Given the description of an element on the screen output the (x, y) to click on. 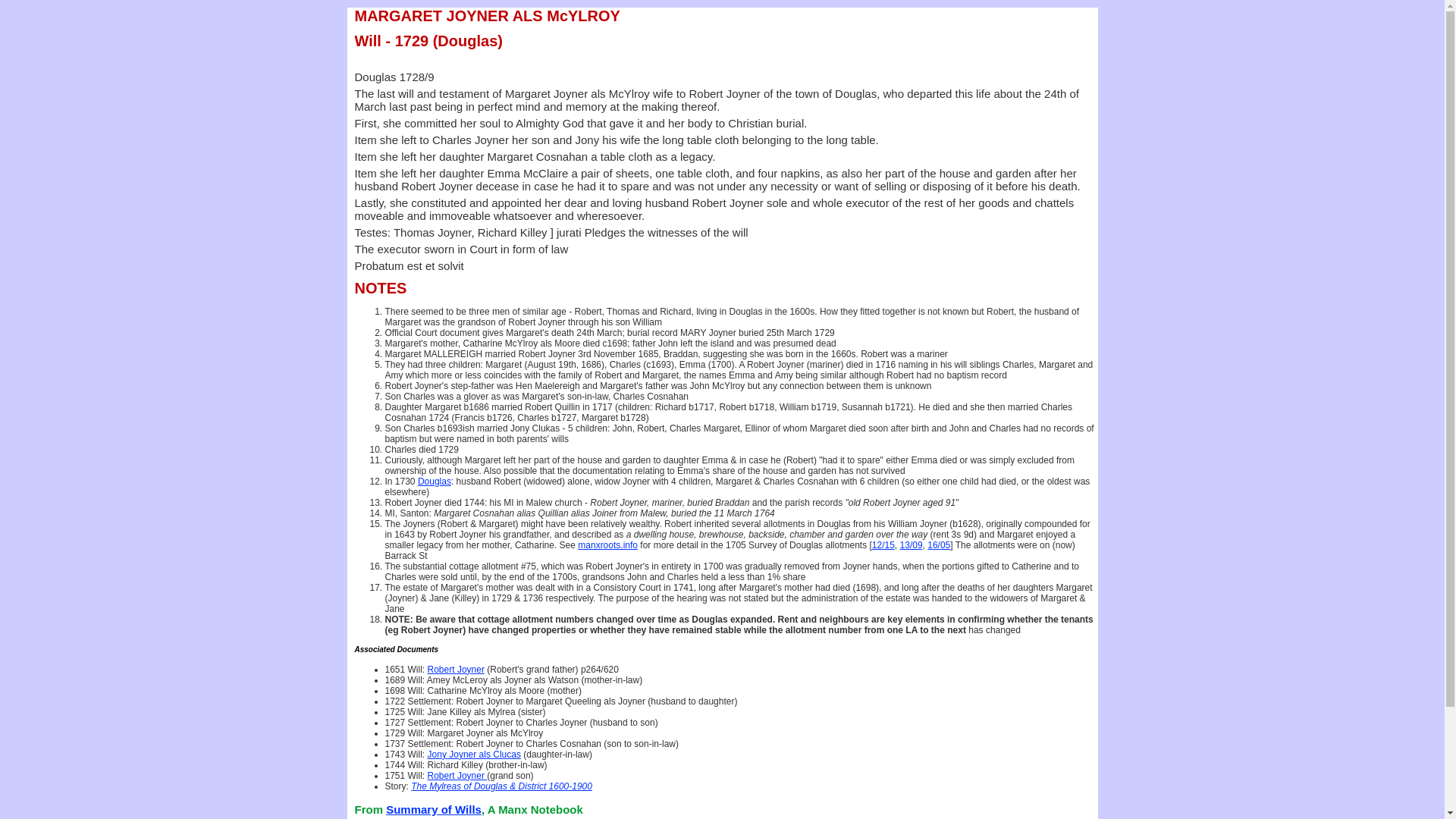
The Mylreas of Douglas & District 1600-1900 Element type: text (501, 786)
16/05 Element type: text (938, 544)
13/09 Element type: text (911, 544)
Robert Joyner Element type: text (457, 775)
Robert Joyner Element type: text (455, 669)
manxroots.info Element type: text (607, 544)
Summary of Wills Element type: text (433, 809)
Douglas Element type: text (434, 481)
Jony Joyner als Clucas Element type: text (473, 754)
12/15 Element type: text (883, 544)
